Given the description of an element on the screen output the (x, y) to click on. 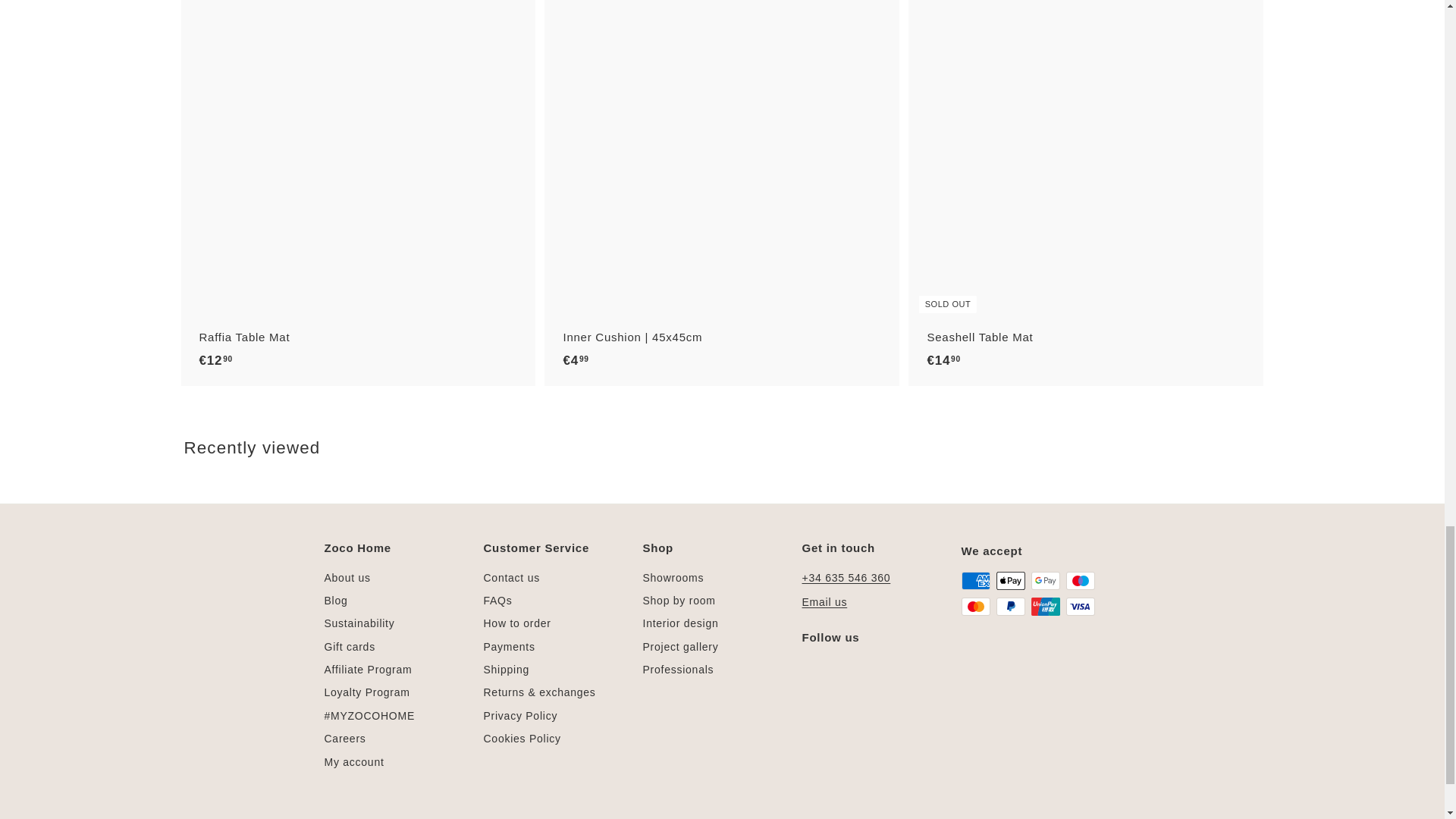
Visa (1079, 606)
PayPal (1010, 606)
American Express (975, 580)
Mastercard (975, 606)
Google Pay (1044, 580)
Maestro (1079, 580)
Union Pay (1044, 606)
Apple Pay (1010, 580)
